Given the description of an element on the screen output the (x, y) to click on. 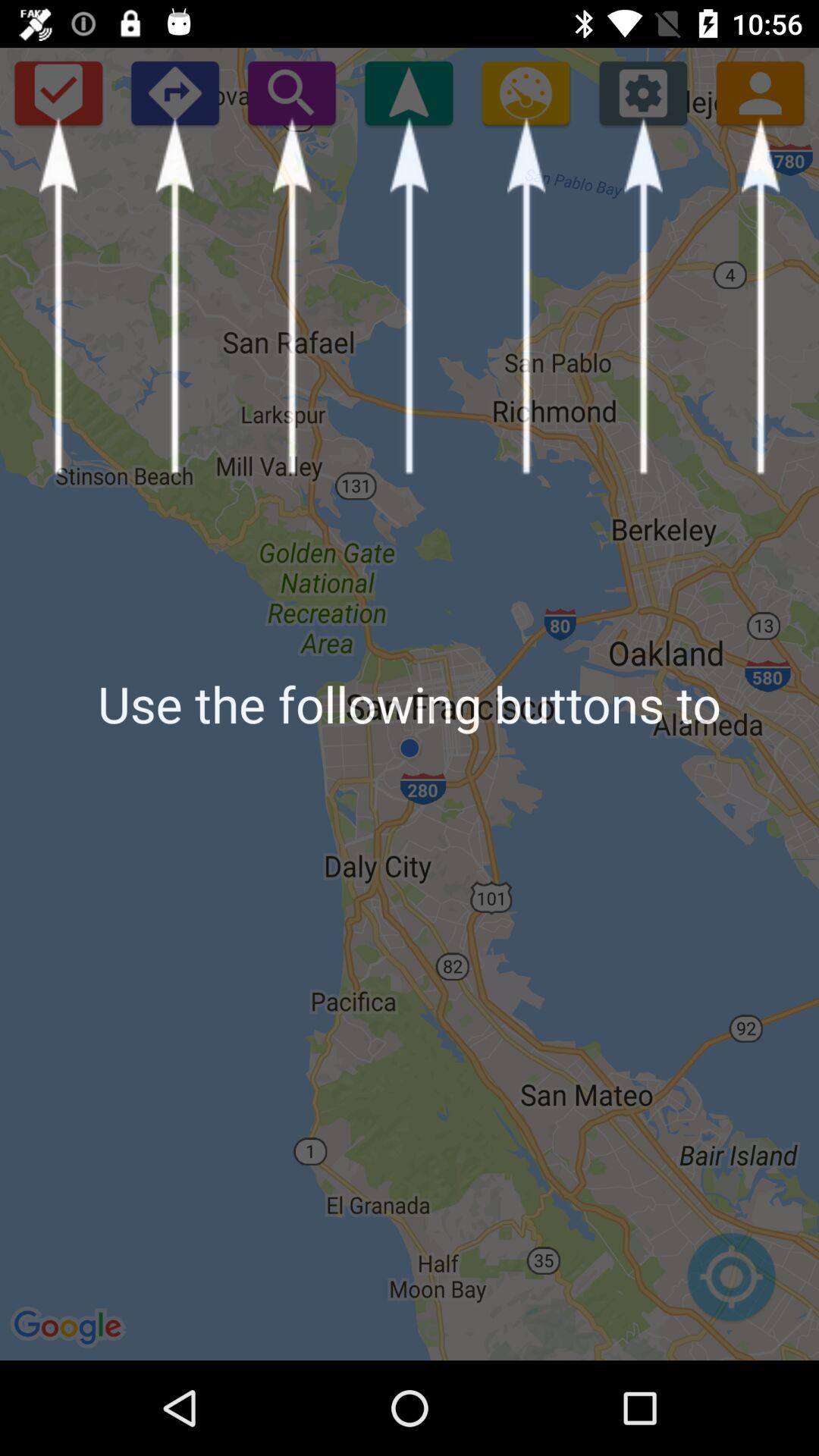
click the app above use the following app (408, 92)
